Given the description of an element on the screen output the (x, y) to click on. 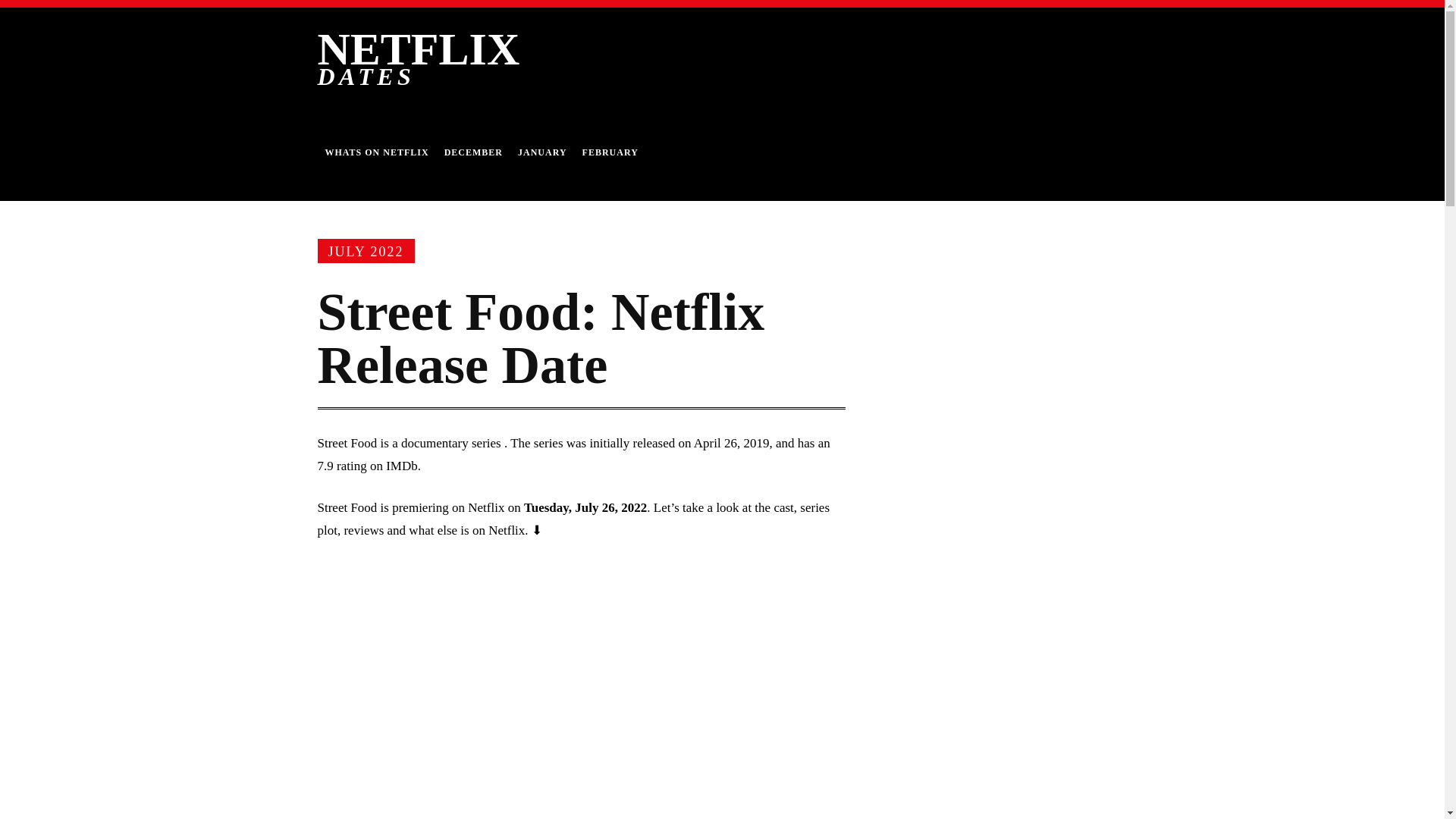
JANUARY (543, 152)
JULY 2022 (365, 250)
WHATS ON NETFLIX (376, 152)
Whats on Netflix (376, 152)
DECEMBER (473, 152)
Whats New on Netflix December 2022 (473, 152)
FEBRUARY (610, 152)
